Given the description of an element on the screen output the (x, y) to click on. 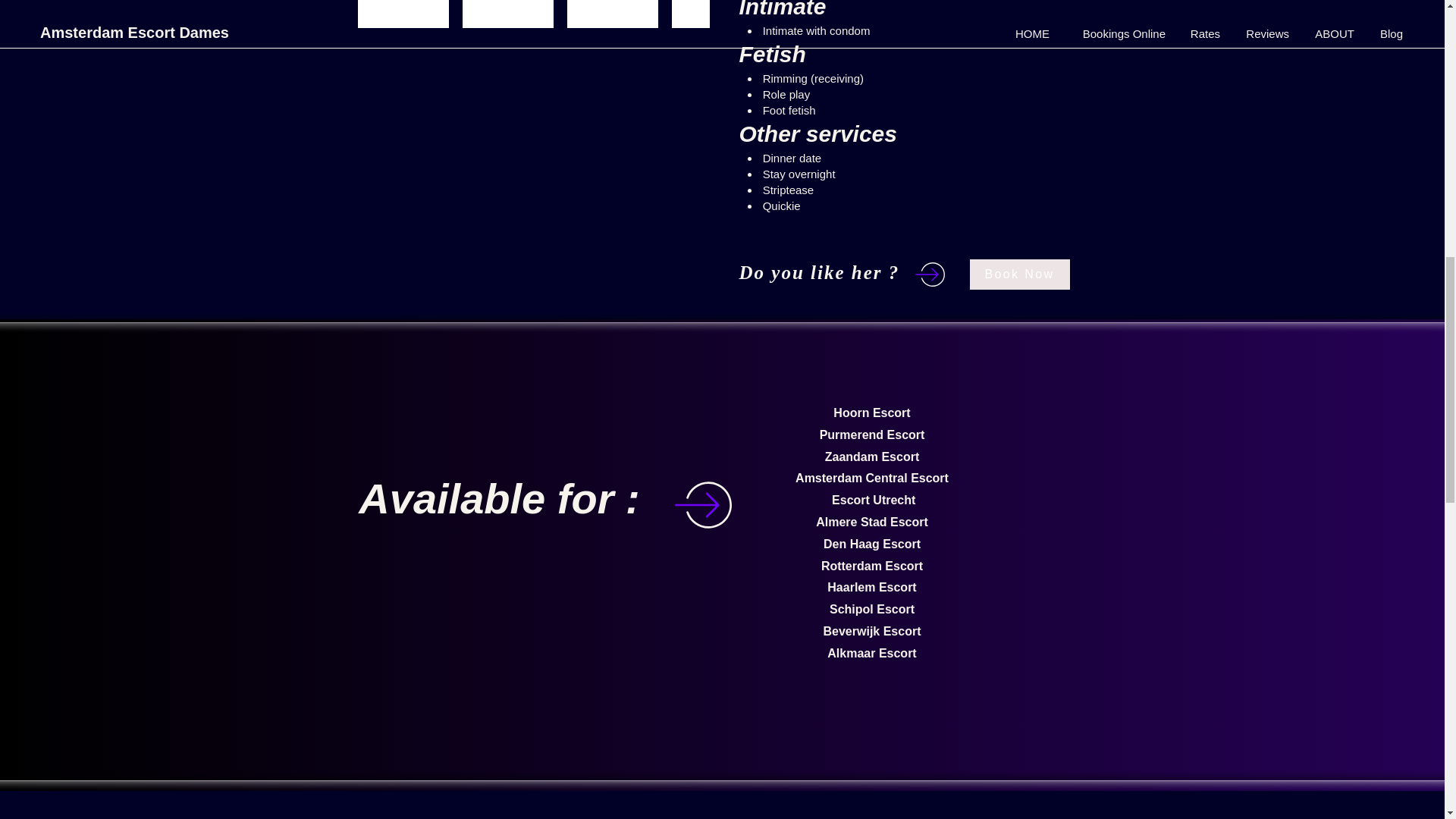
Book Now (1018, 274)
